Given the description of an element on the screen output the (x, y) to click on. 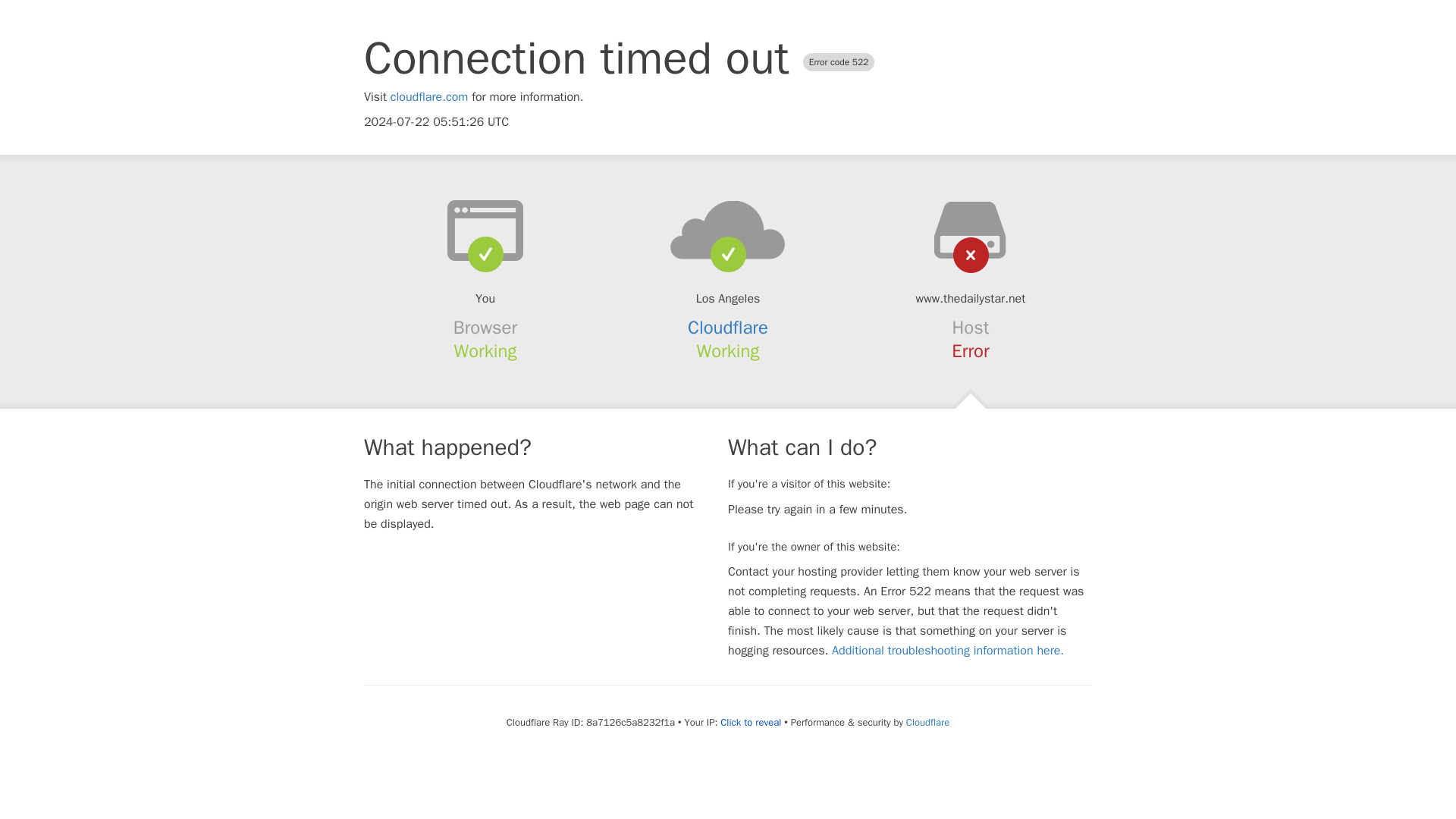
Click to reveal (750, 722)
cloudflare.com (429, 96)
Cloudflare (727, 327)
Cloudflare (927, 721)
Additional troubleshooting information here. (947, 650)
